Given the description of an element on the screen output the (x, y) to click on. 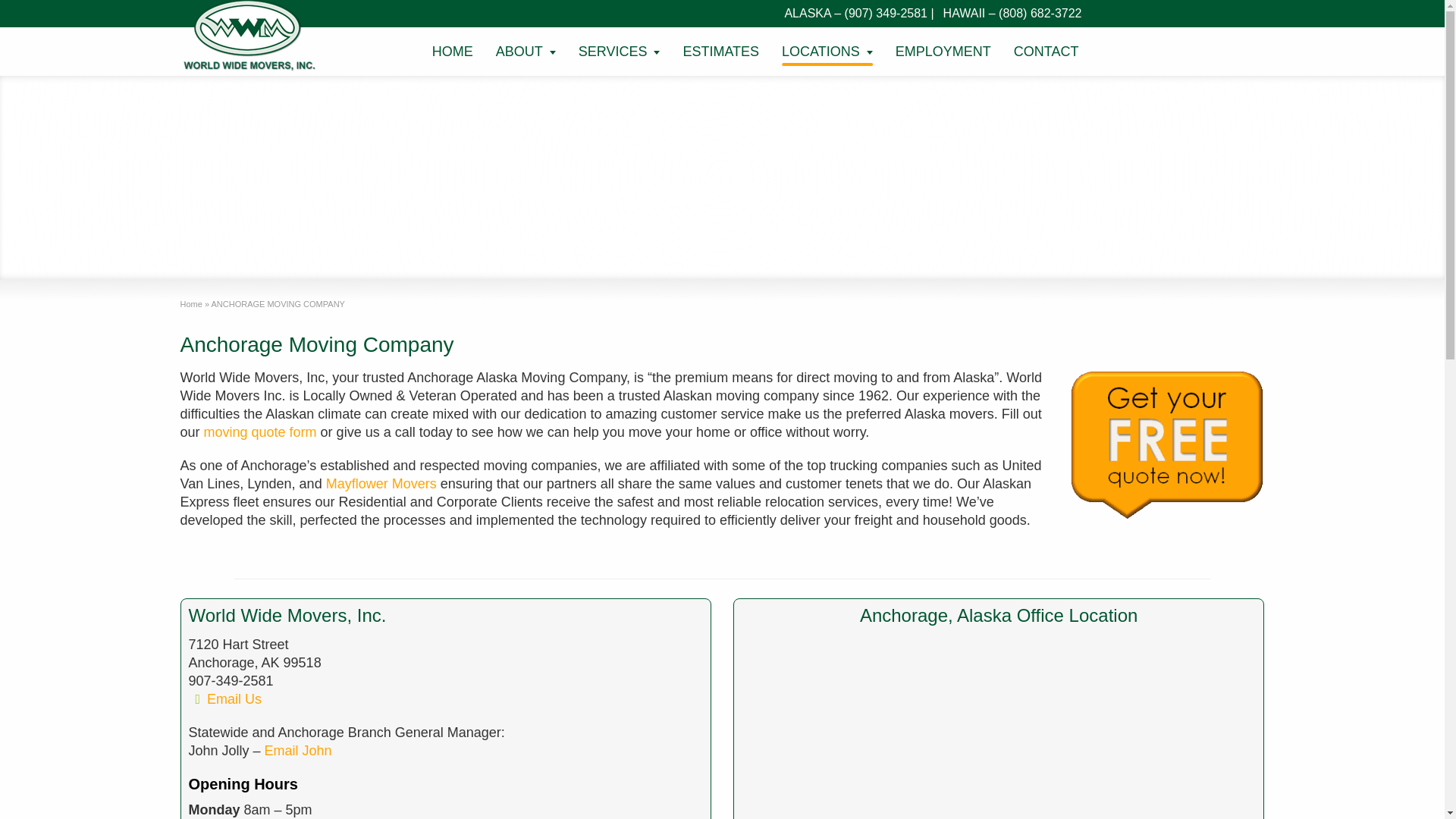
SERVICES (619, 53)
HOME (452, 53)
ABOUT (525, 53)
